Given the description of an element on the screen output the (x, y) to click on. 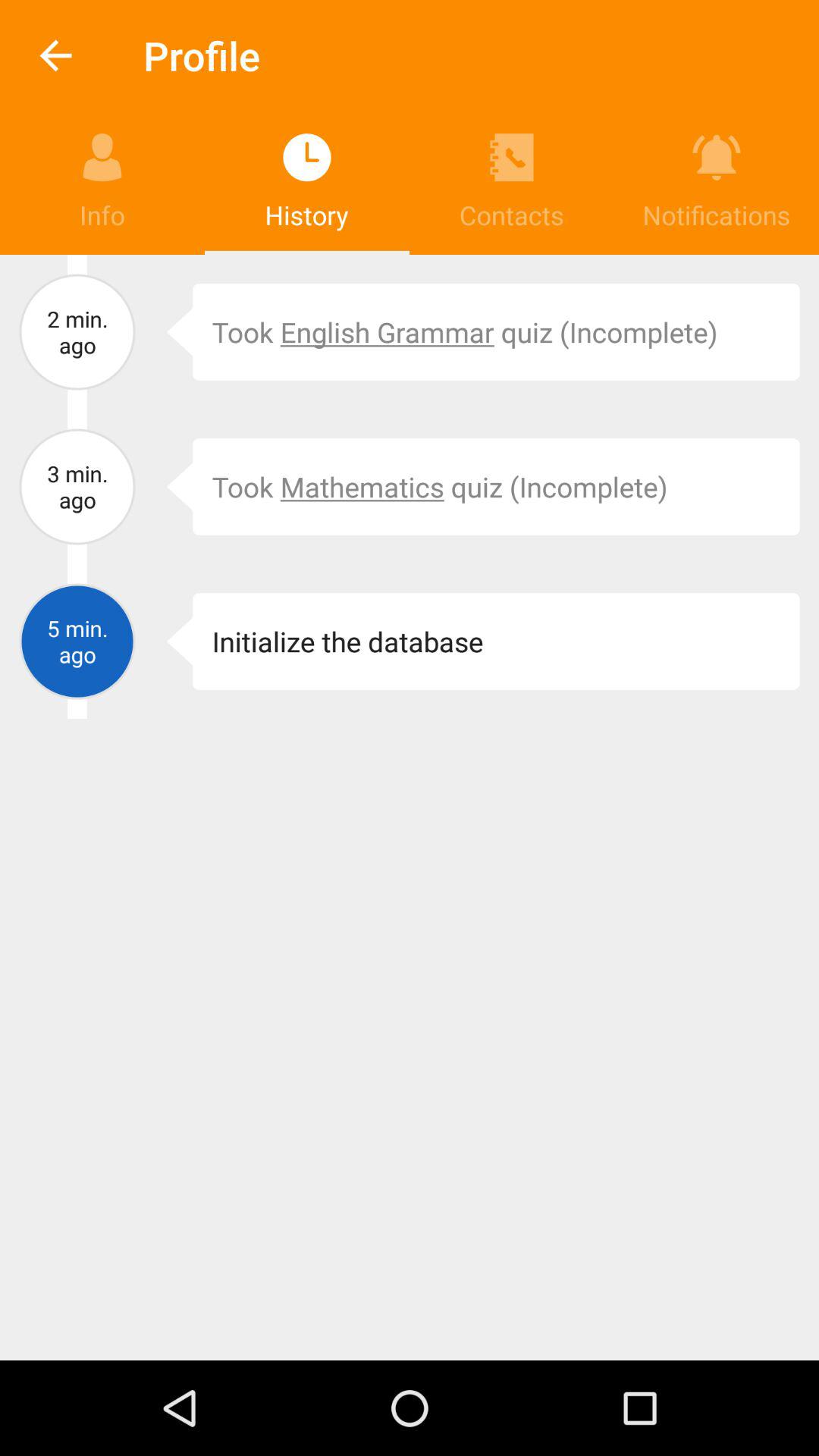
tap the item to the left of the initialize the database item (168, 641)
